Given the description of an element on the screen output the (x, y) to click on. 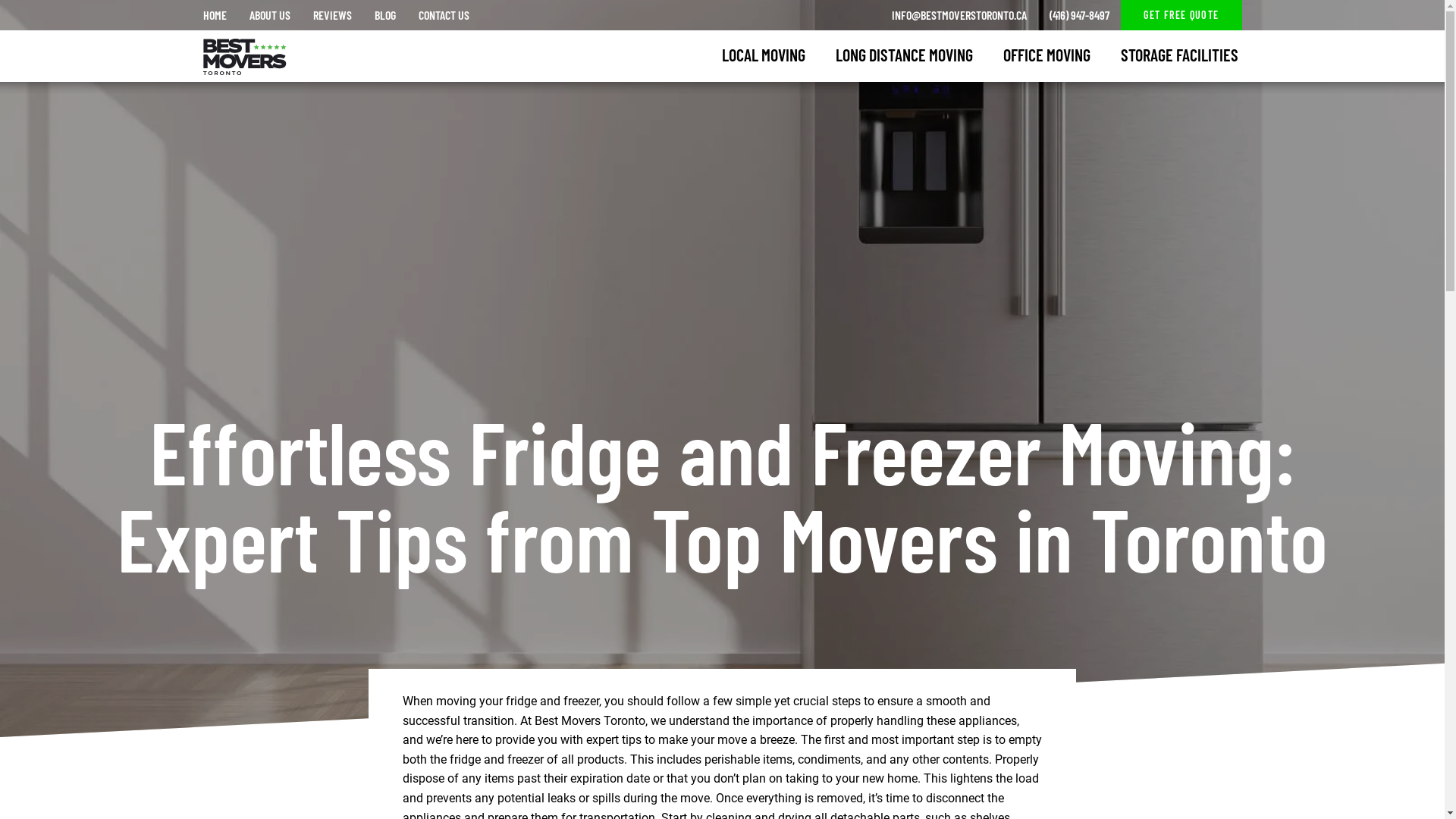
(416) 947-8497 Element type: text (1079, 15)
GET FREE QUOTE Element type: text (1180, 15)
LOCAL MOVING Element type: text (763, 54)
CONTACT US Element type: text (443, 15)
HOME Element type: text (214, 15)
REVIEWS Element type: text (332, 15)
INFO@BESTMOVERSTORONTO.CA Element type: text (959, 15)
OFFICE MOVING Element type: text (1045, 54)
BLOG Element type: text (384, 15)
Best Movers in Toronto Element type: hover (244, 46)
STORAGE FACILITIES Element type: text (1179, 54)
LONG DISTANCE MOVING Element type: text (904, 54)
ABOUT US Element type: text (269, 15)
